Given the description of an element on the screen output the (x, y) to click on. 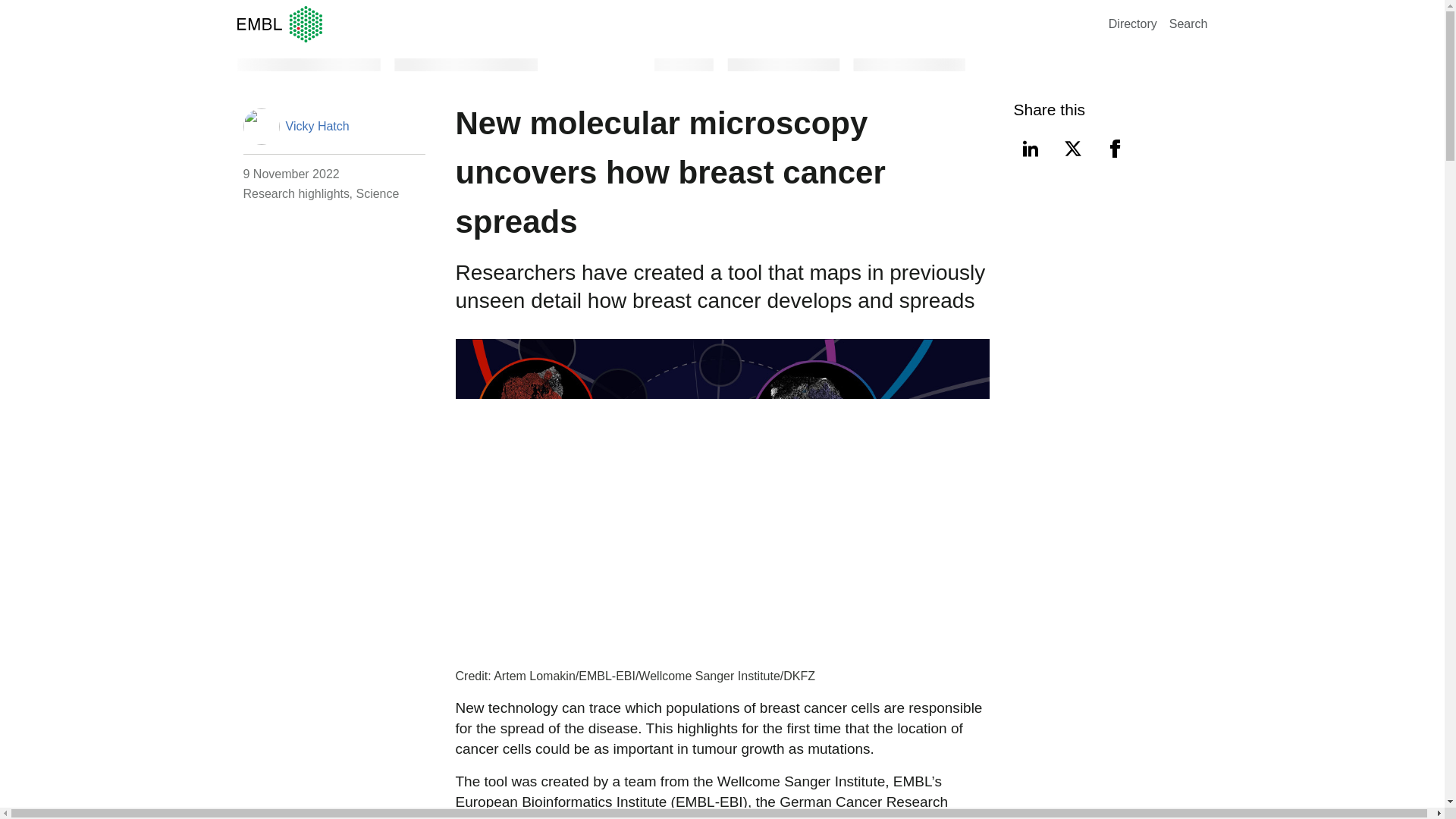
Research highlights (296, 193)
twitter (1072, 148)
linkedin (1029, 148)
Science (376, 193)
Vicky Hatch (317, 125)
Directory (1132, 23)
facebook (1114, 148)
Search (1188, 23)
European Molecular Biology Laboratory Home (668, 23)
